Given the description of an element on the screen output the (x, y) to click on. 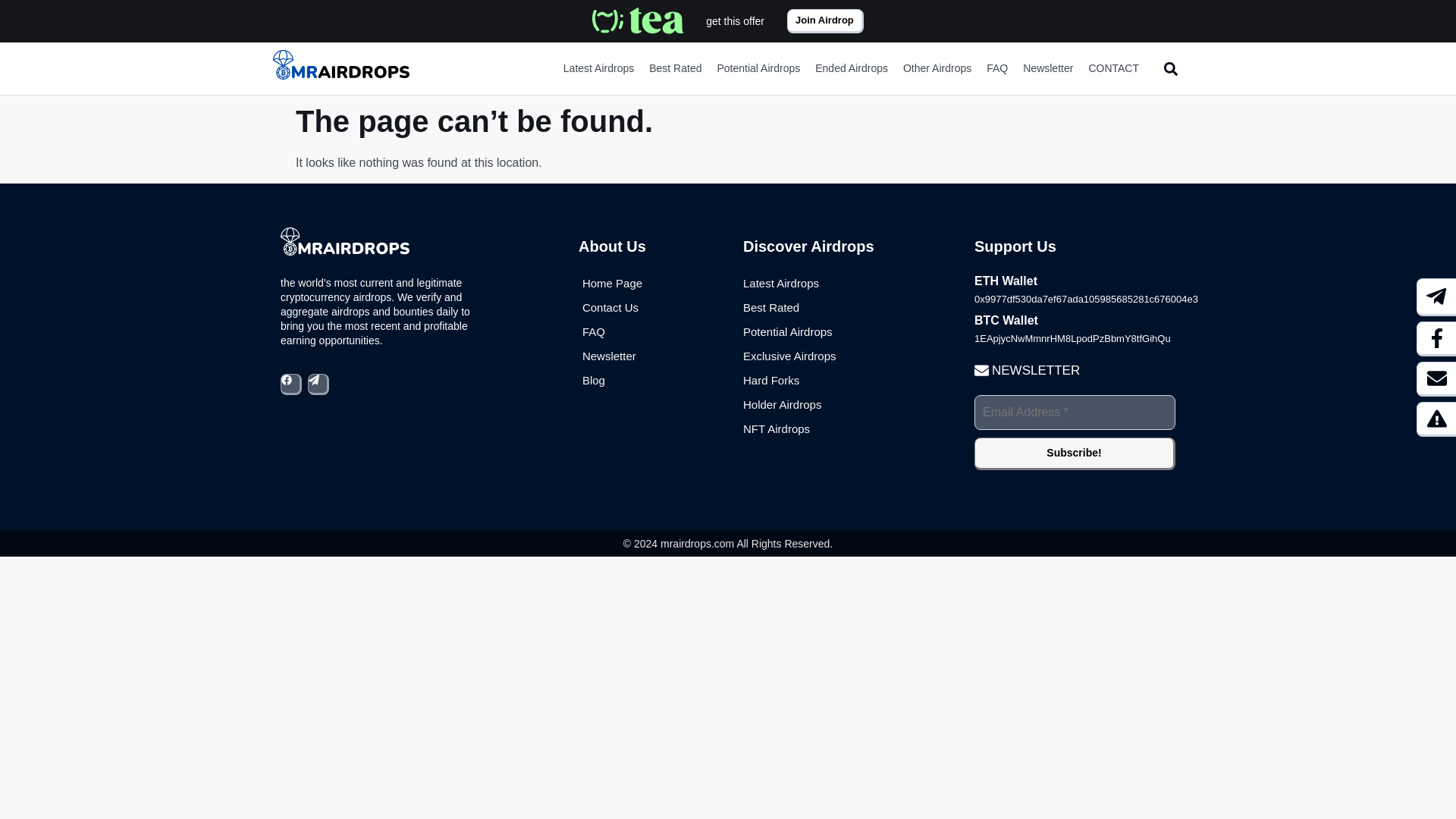
CONTACT (1113, 68)
Home Page (612, 283)
Newsletter (1047, 68)
fullLogo (637, 21)
Email Address (1074, 411)
Ended Airdrops (851, 68)
Subscribe! (1074, 453)
Other Airdrops (936, 68)
Best Rated (675, 68)
FAQ (996, 68)
